Given the description of an element on the screen output the (x, y) to click on. 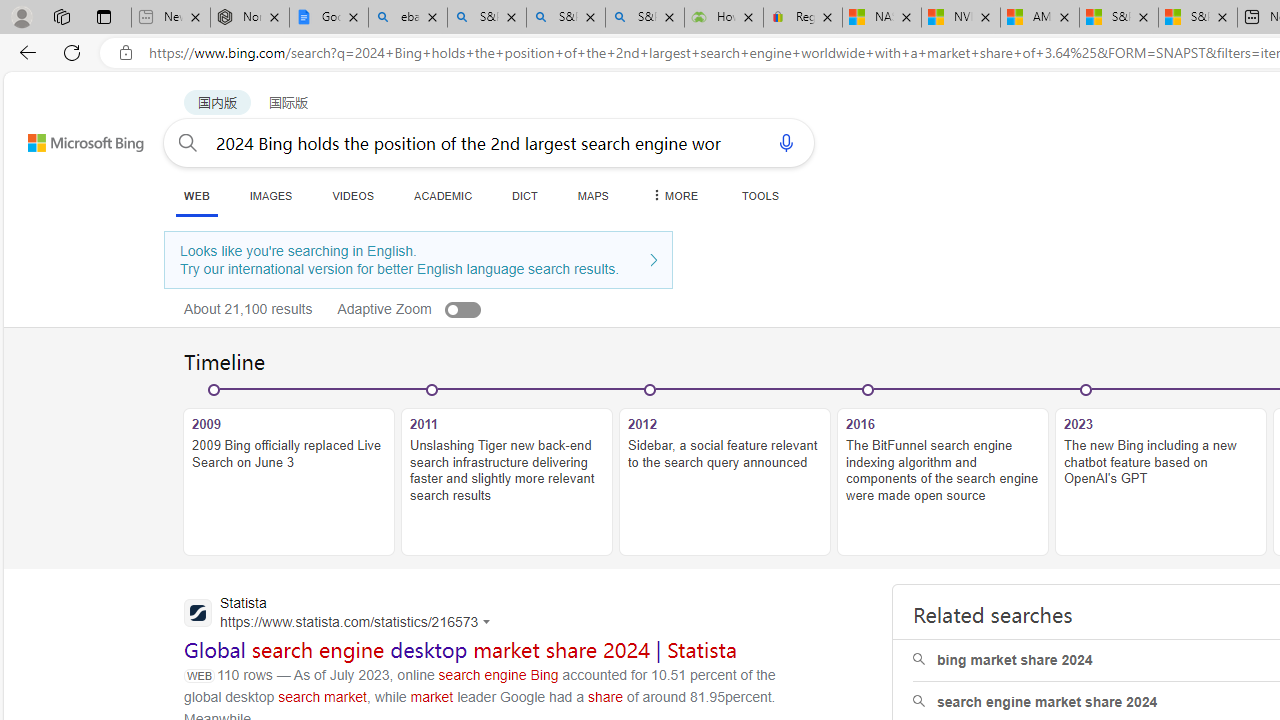
MORE (673, 195)
Statista (342, 614)
ACADEMIC (443, 195)
TOOLS (760, 195)
2009 2009 Bing officially replaced Live Search on June 3 (289, 481)
Search button (187, 142)
DICT (525, 195)
